Given the description of an element on the screen output the (x, y) to click on. 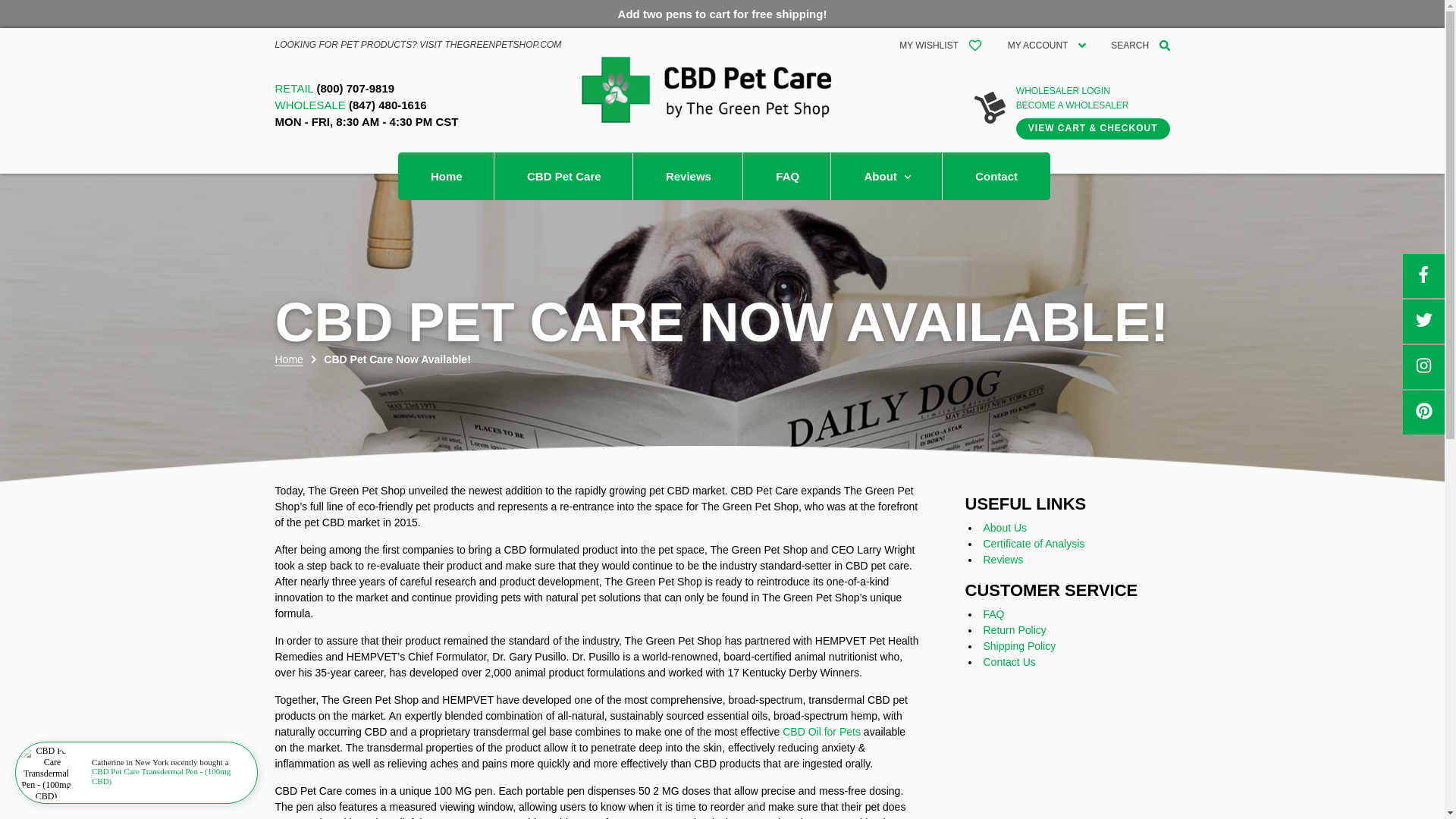
About Us (1004, 527)
SEARCH (1139, 44)
MY ACCOUNT (1046, 44)
MY WISHLIST (940, 44)
FAQ (786, 175)
About (886, 175)
Reviews (688, 175)
CBD Pet Care (564, 175)
Home (446, 175)
MON - FRI, 8:30 AM - 4:30 PM CST (366, 123)
LOOKING FOR PET PRODUCTS? VISIT THEGREENPETSHOP.COM (417, 44)
CBD Oil for Pets (823, 731)
Home (288, 359)
Certificate of Analysis (1033, 543)
WHOLESALER LOGIN (1093, 92)
